Given the description of an element on the screen output the (x, y) to click on. 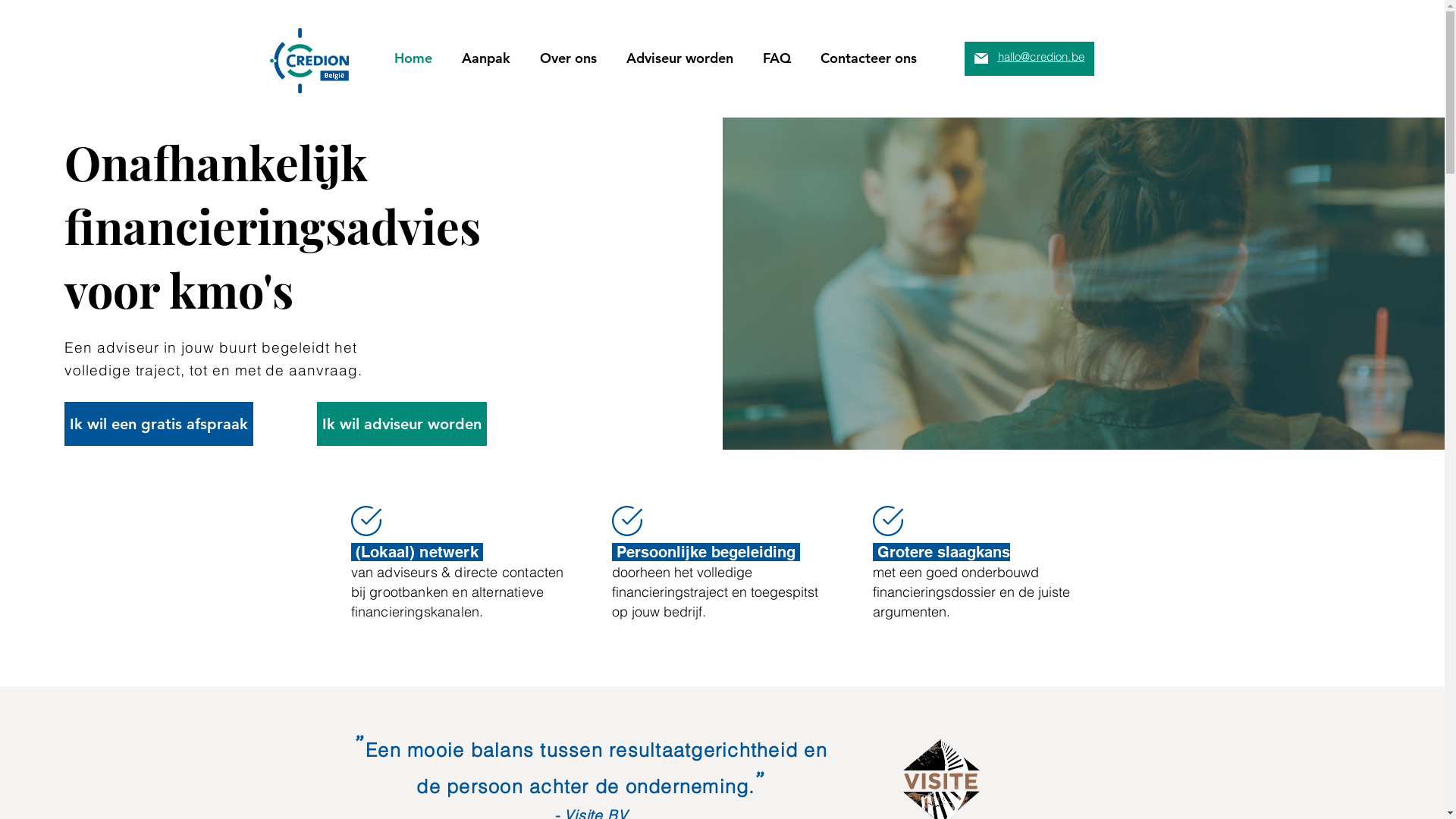
Adviseur worden Element type: text (679, 58)
Ik wil een gratis afspraak Element type: text (158, 423)
Contacteer ons Element type: text (868, 58)
hallo@credion.be Element type: text (1040, 55)
FAQ Element type: text (776, 58)
Aanpak Element type: text (486, 58)
Home Element type: text (412, 58)
Over ons Element type: text (567, 58)
Ik wil adviseur worden Element type: text (401, 423)
